Given the description of an element on the screen output the (x, y) to click on. 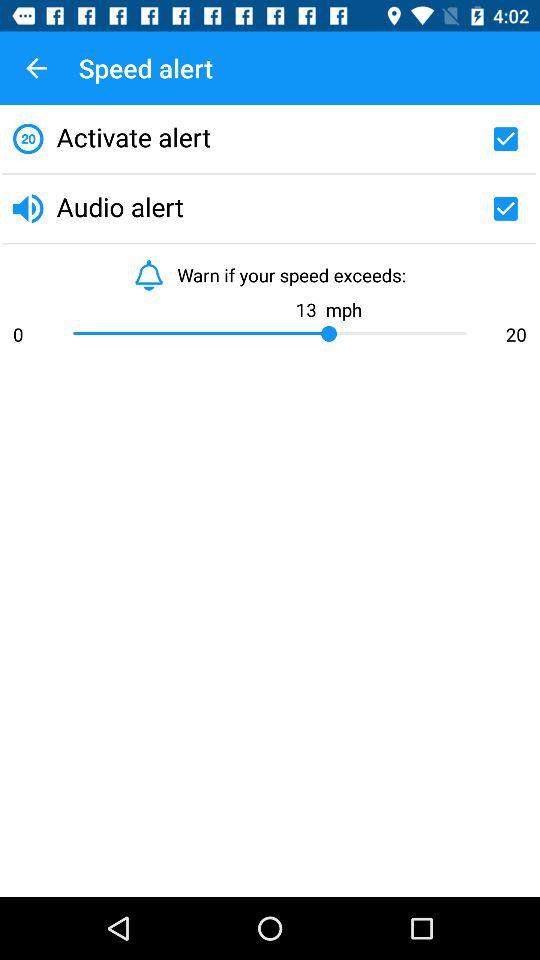
audio alert toggle (505, 208)
